Given the description of an element on the screen output the (x, y) to click on. 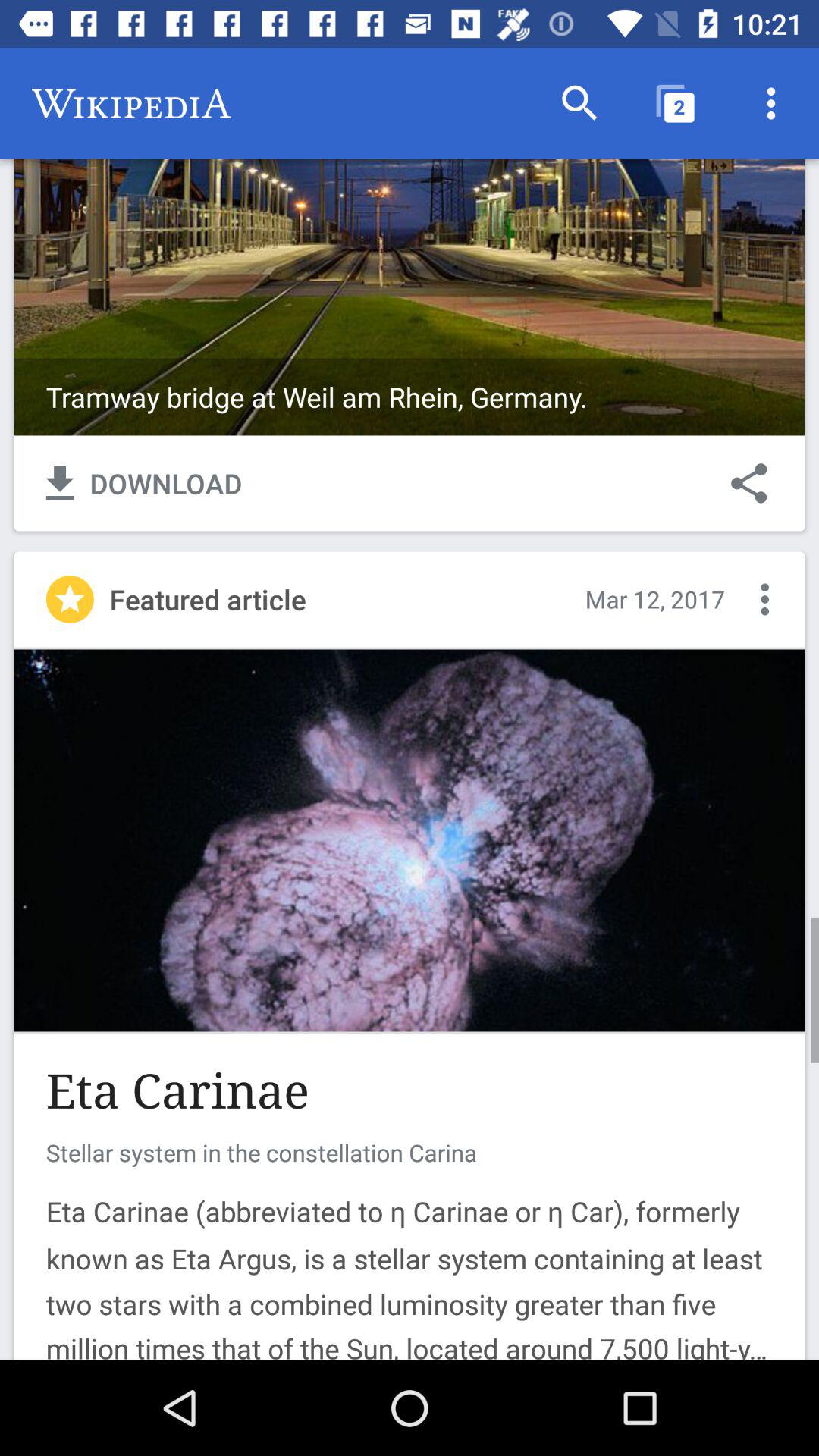
available options (764, 599)
